Given the description of an element on the screen output the (x, y) to click on. 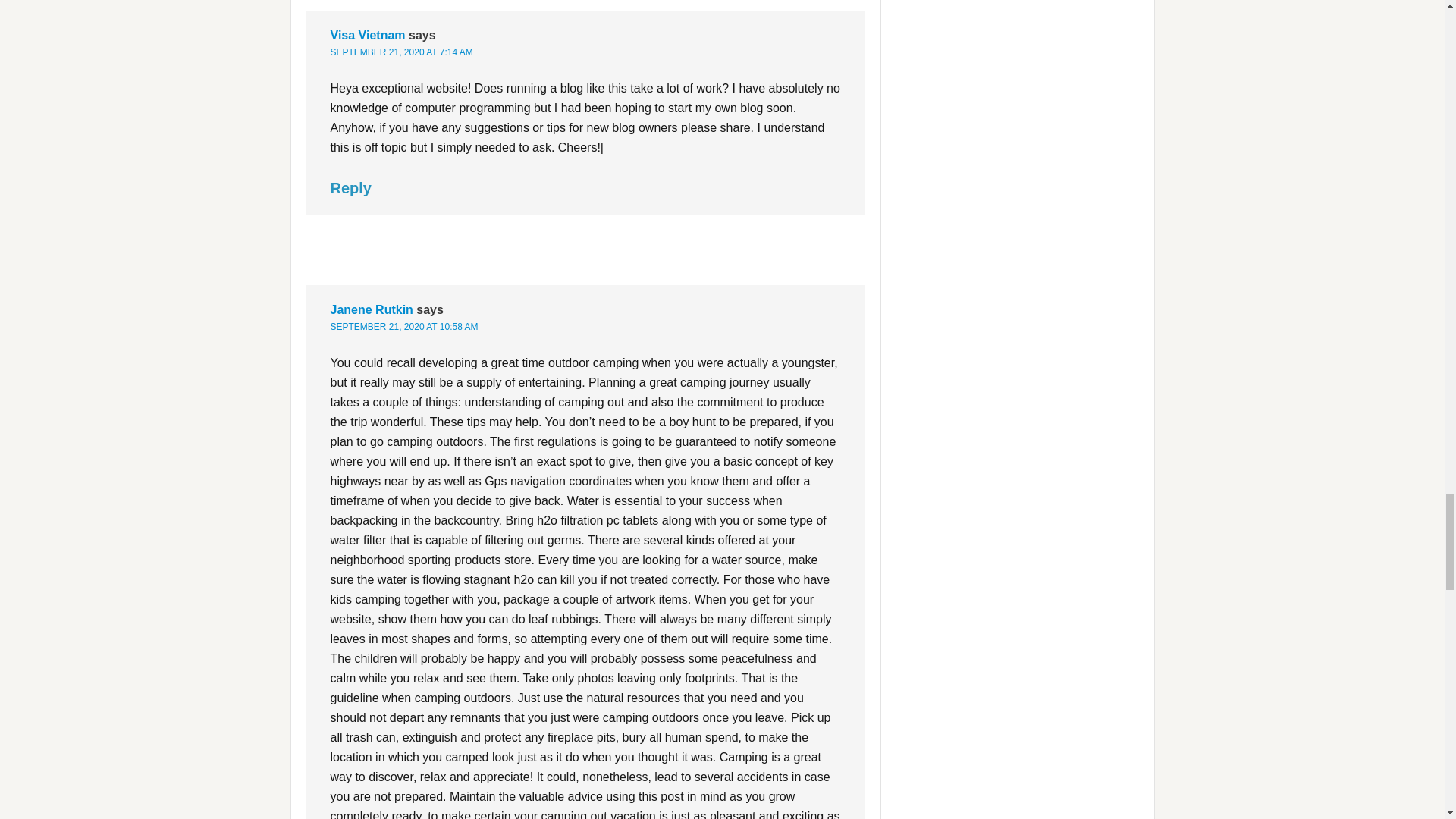
SEPTEMBER 21, 2020 AT 7:14 AM (401, 51)
Visa Vietnam (368, 34)
Janene Rutkin (371, 309)
Reply (350, 187)
SEPTEMBER 21, 2020 AT 10:58 AM (404, 326)
